Given the description of an element on the screen output the (x, y) to click on. 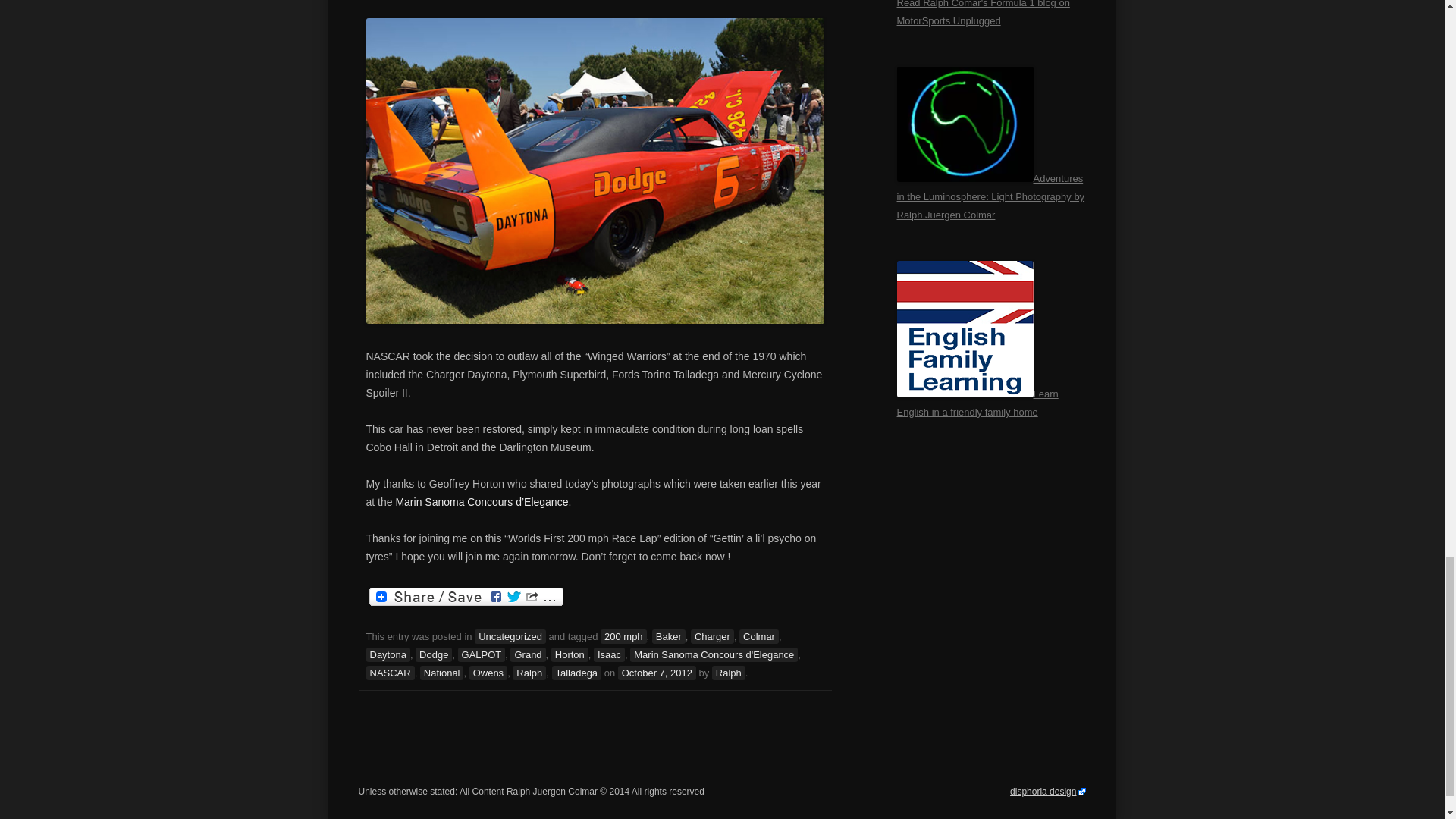
October 7, 2012 (656, 672)
Ralph (728, 672)
Horton (569, 654)
Ralph (529, 672)
NASCAR (389, 672)
Dodge (432, 654)
GALPOT (481, 654)
Uncategorized (510, 636)
Colmar (758, 636)
